Given the description of an element on the screen output the (x, y) to click on. 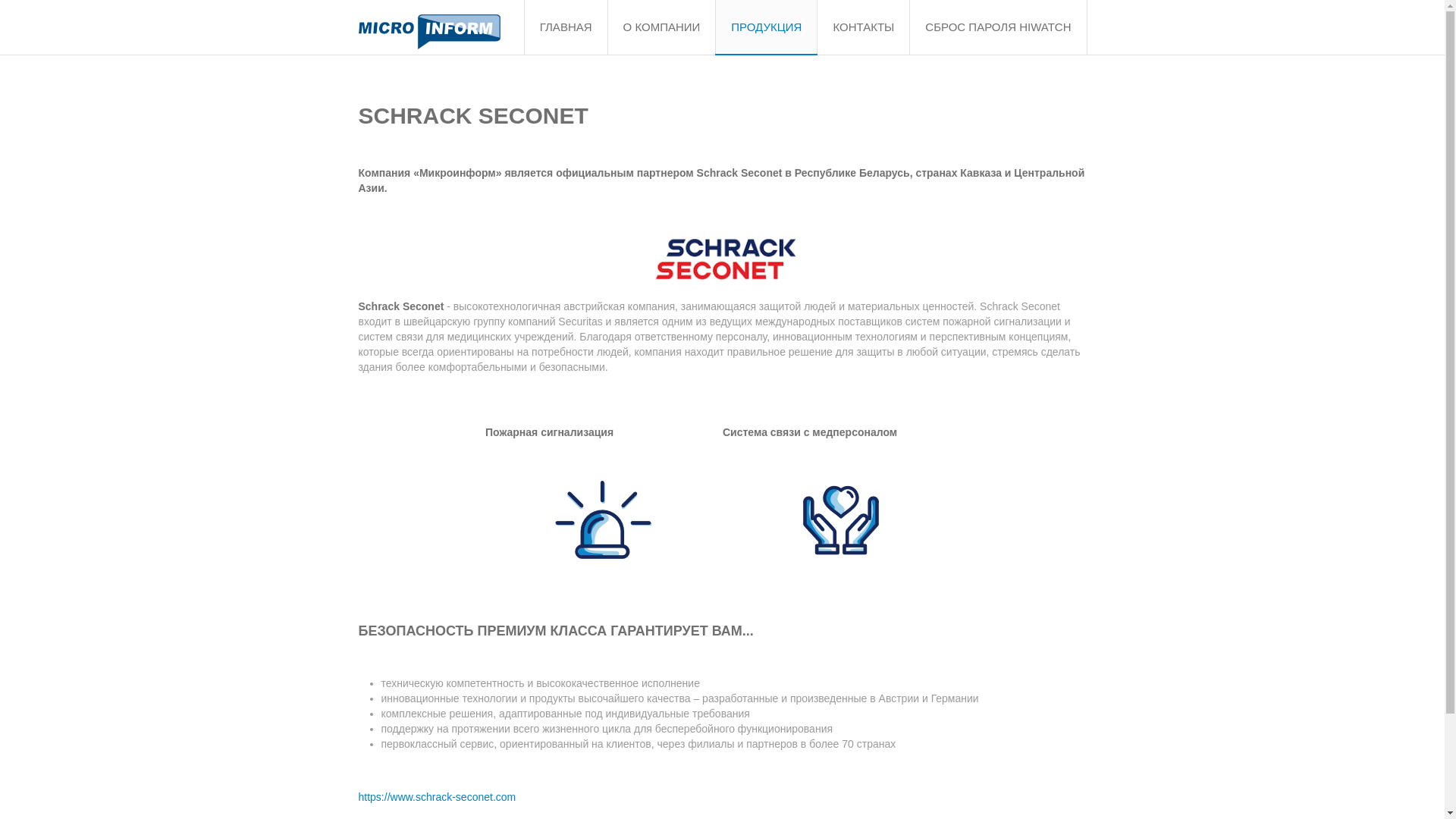
https://www.schrack-seconet.com Element type: text (436, 796)
